Given the description of an element on the screen output the (x, y) to click on. 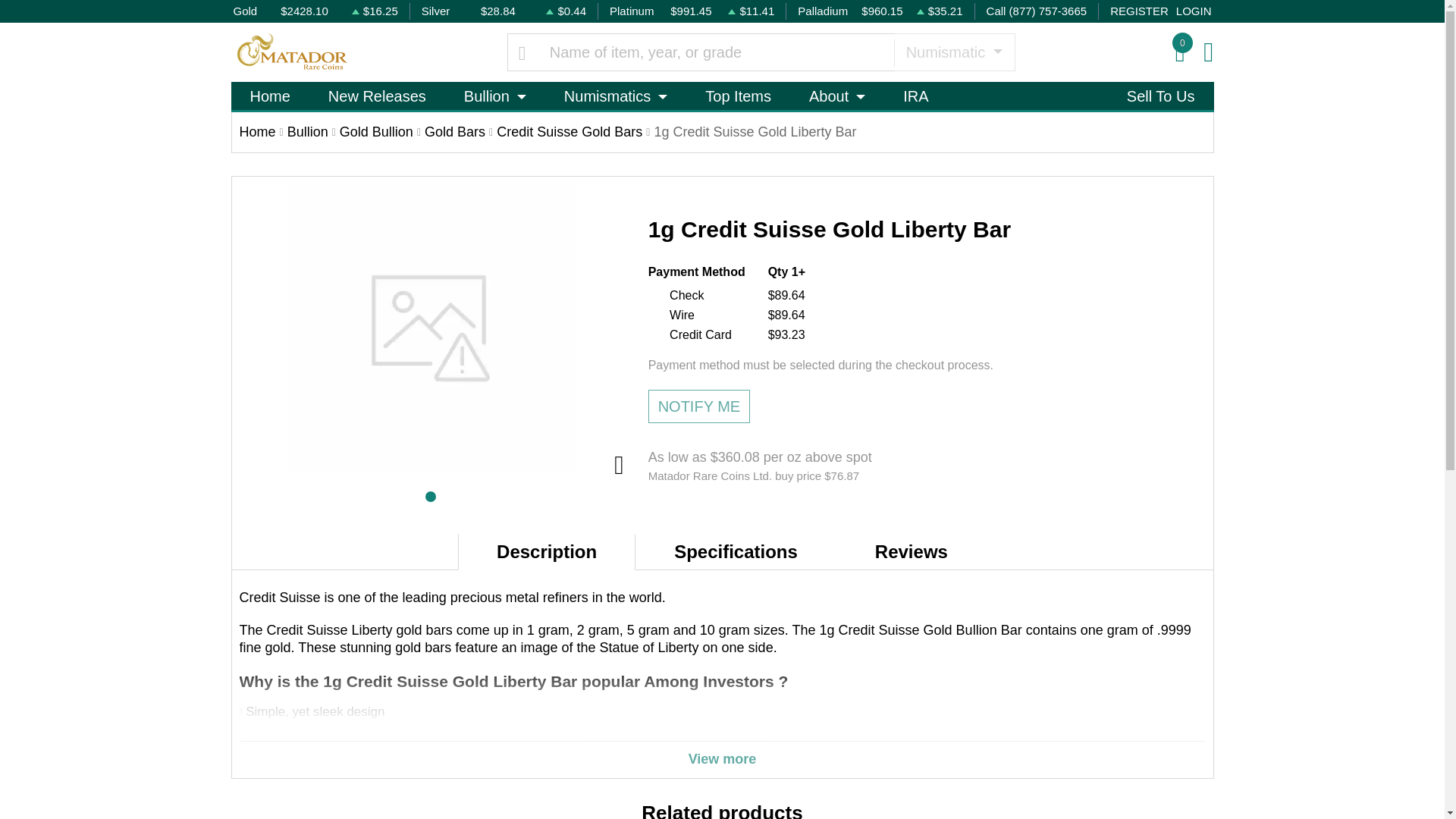
Bullion (494, 95)
REGISTER (1139, 11)
Numismatic (953, 52)
New Releases (376, 95)
Home (269, 95)
LOGIN (1193, 11)
